Given the description of an element on the screen output the (x, y) to click on. 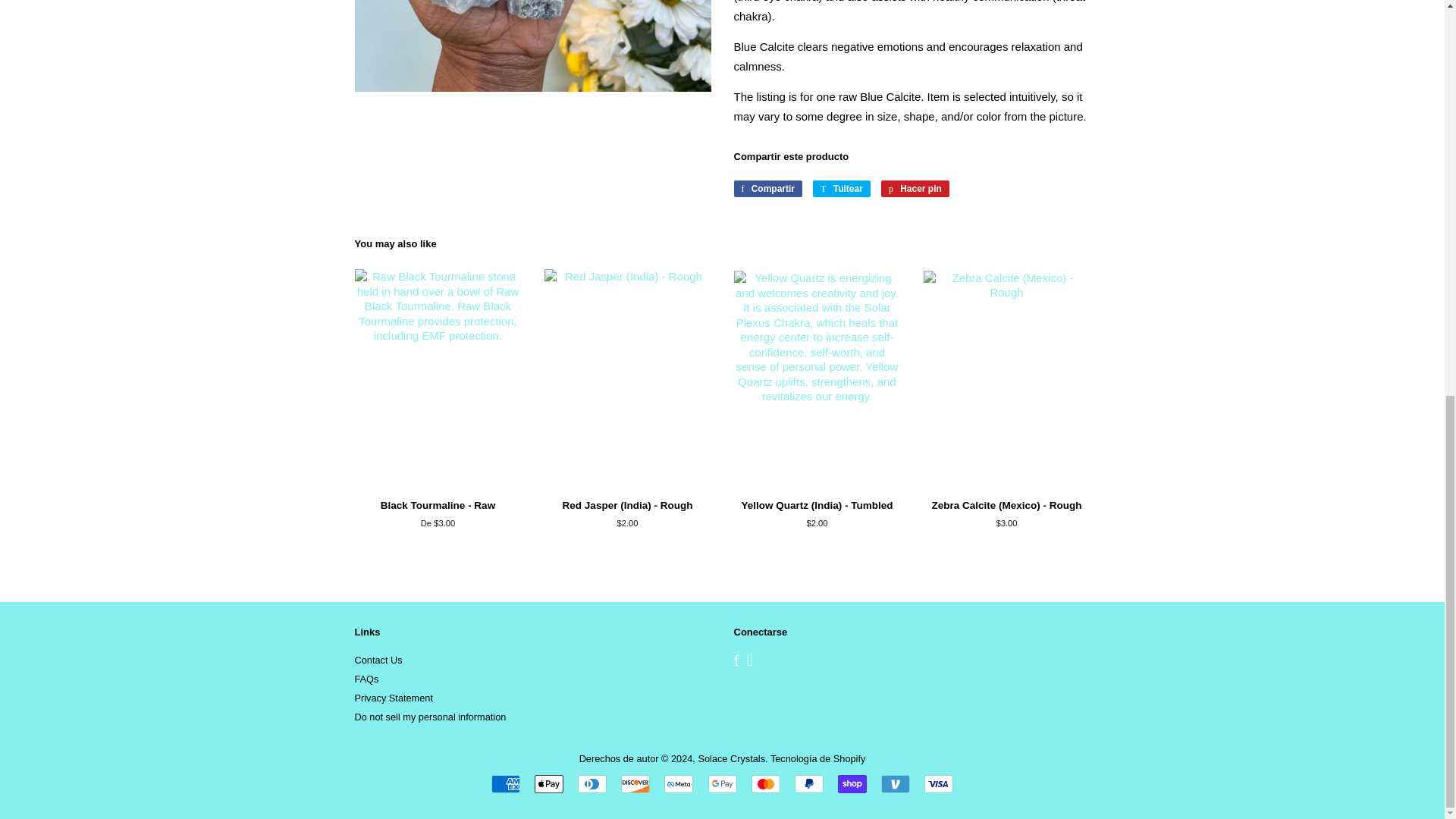
Pinear en Pinterest (914, 188)
Meta Pay (678, 783)
Visa (938, 783)
Apple Pay (548, 783)
Mastercard (765, 783)
American Express (505, 783)
Tuitear en Twitter (841, 188)
Compartir en Facebook (768, 188)
Shop Pay (852, 783)
Diners Club (592, 783)
